Given the description of an element on the screen output the (x, y) to click on. 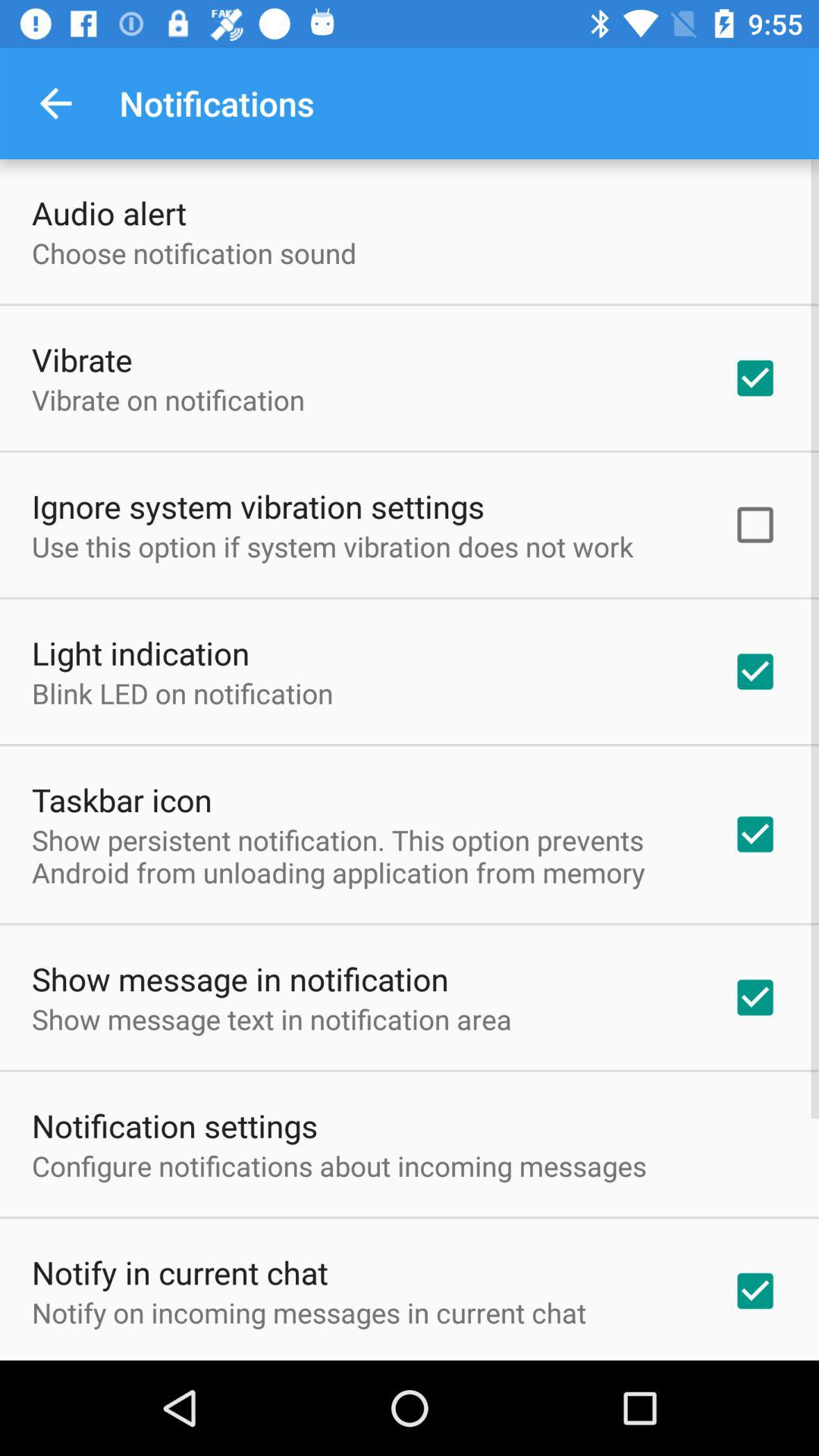
choose the audio alert item (108, 212)
